Given the description of an element on the screen output the (x, y) to click on. 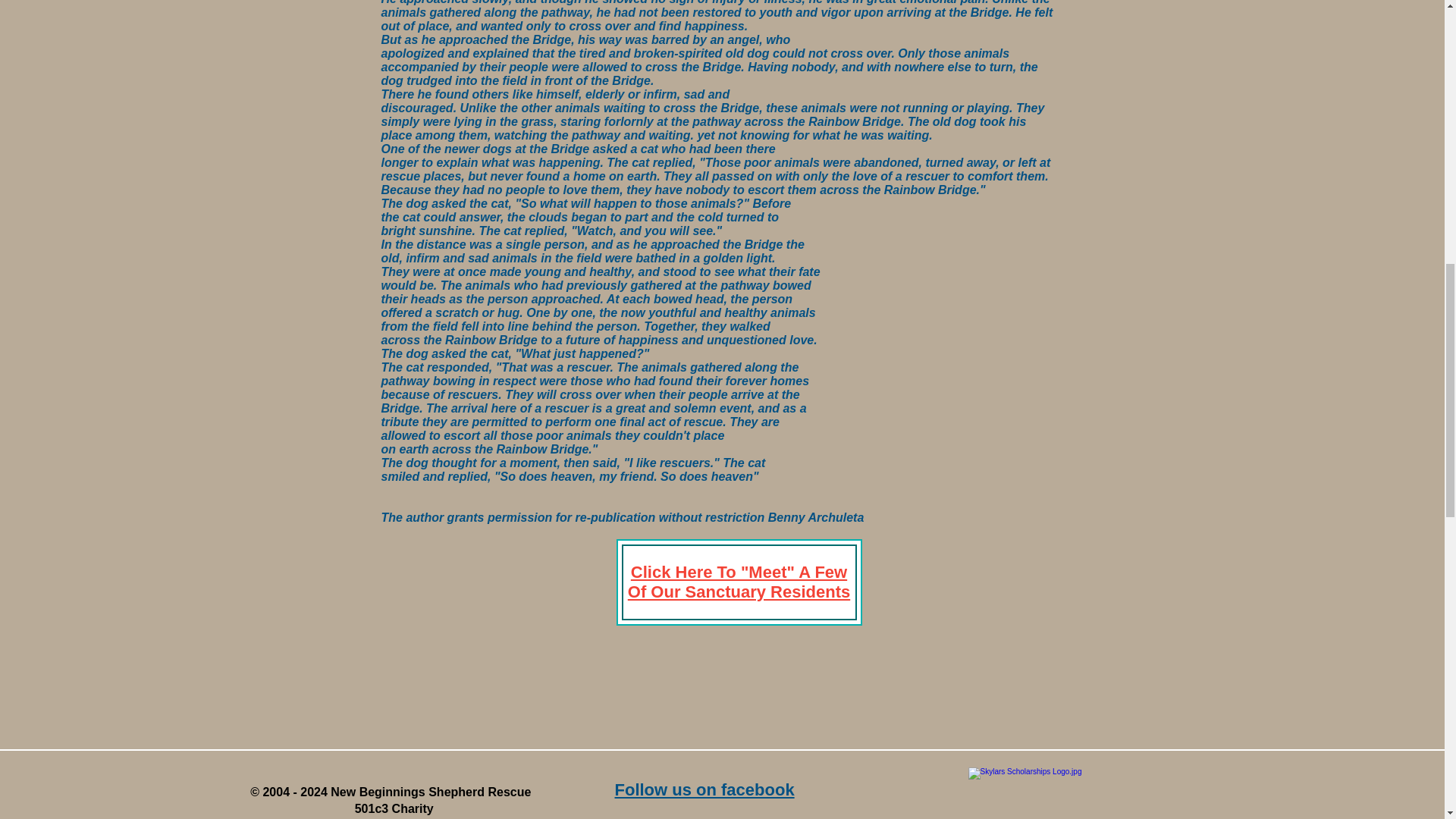
Follow us on facebook (703, 789)
Click Here To "Meet" A Few Of Our Sanctuary Residents (738, 581)
